Given the description of an element on the screen output the (x, y) to click on. 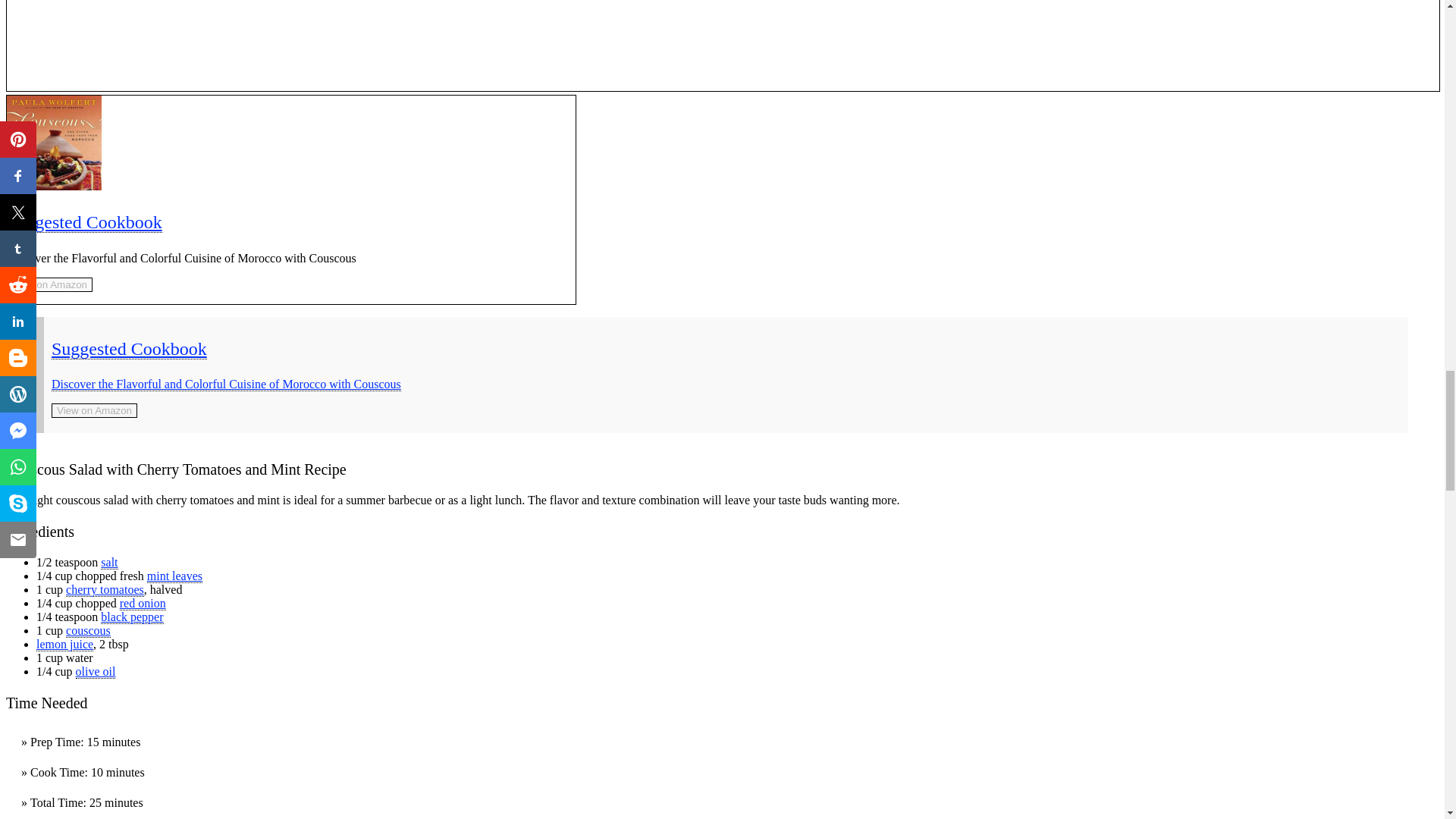
View on Amazon (50, 283)
Suggested Cookbook (84, 222)
View on Amazon (50, 284)
